Given the description of an element on the screen output the (x, y) to click on. 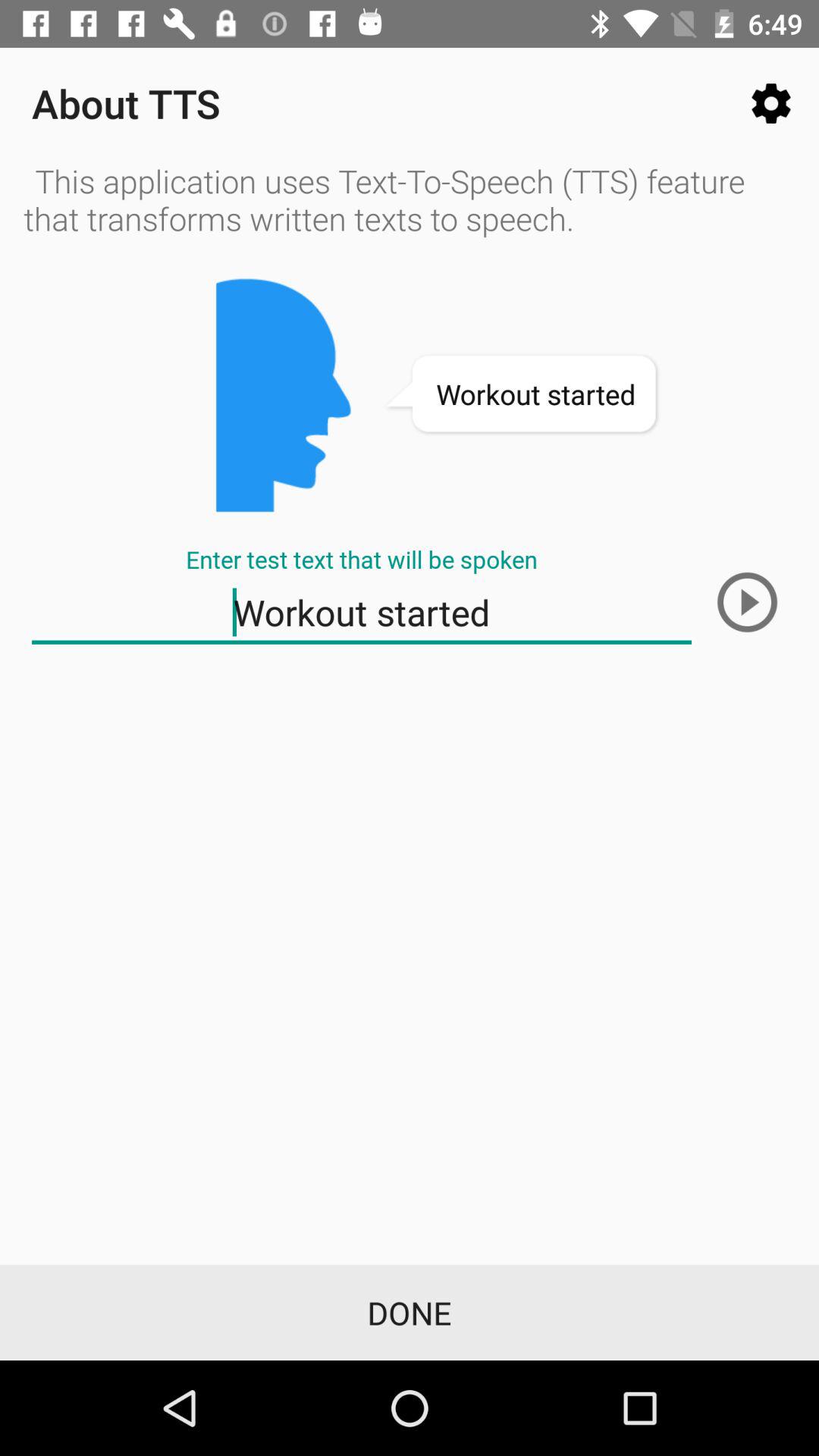
play option (747, 602)
